Given the description of an element on the screen output the (x, y) to click on. 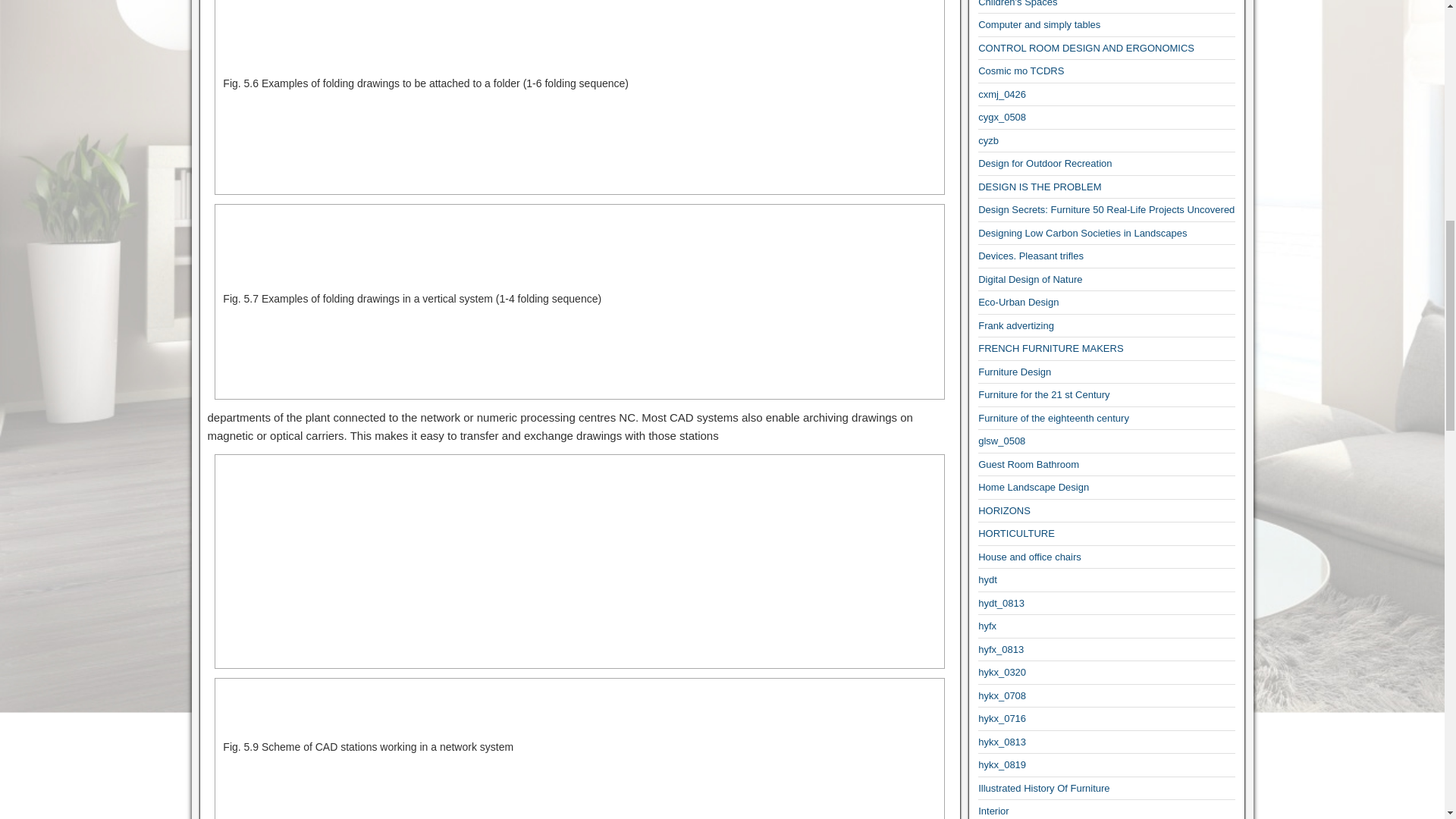
Design for Outdoor Recreation (1045, 163)
Design Secrets: Furniture 50 Real-Life Projects Uncovered (1106, 209)
Cosmic mo TCDRS (1021, 70)
Digital Design of Nature (1029, 279)
Devices. Pleasant trifles (1030, 255)
DESIGN IS THE PROBLEM (1039, 186)
Eco-Urban Design (1018, 301)
Designing Low Carbon Societies in Landscapes (1082, 233)
Frank advertizing (1016, 325)
CONTROL ROOM DESIGN AND ERGONOMICS (1085, 48)
